Given the description of an element on the screen output the (x, y) to click on. 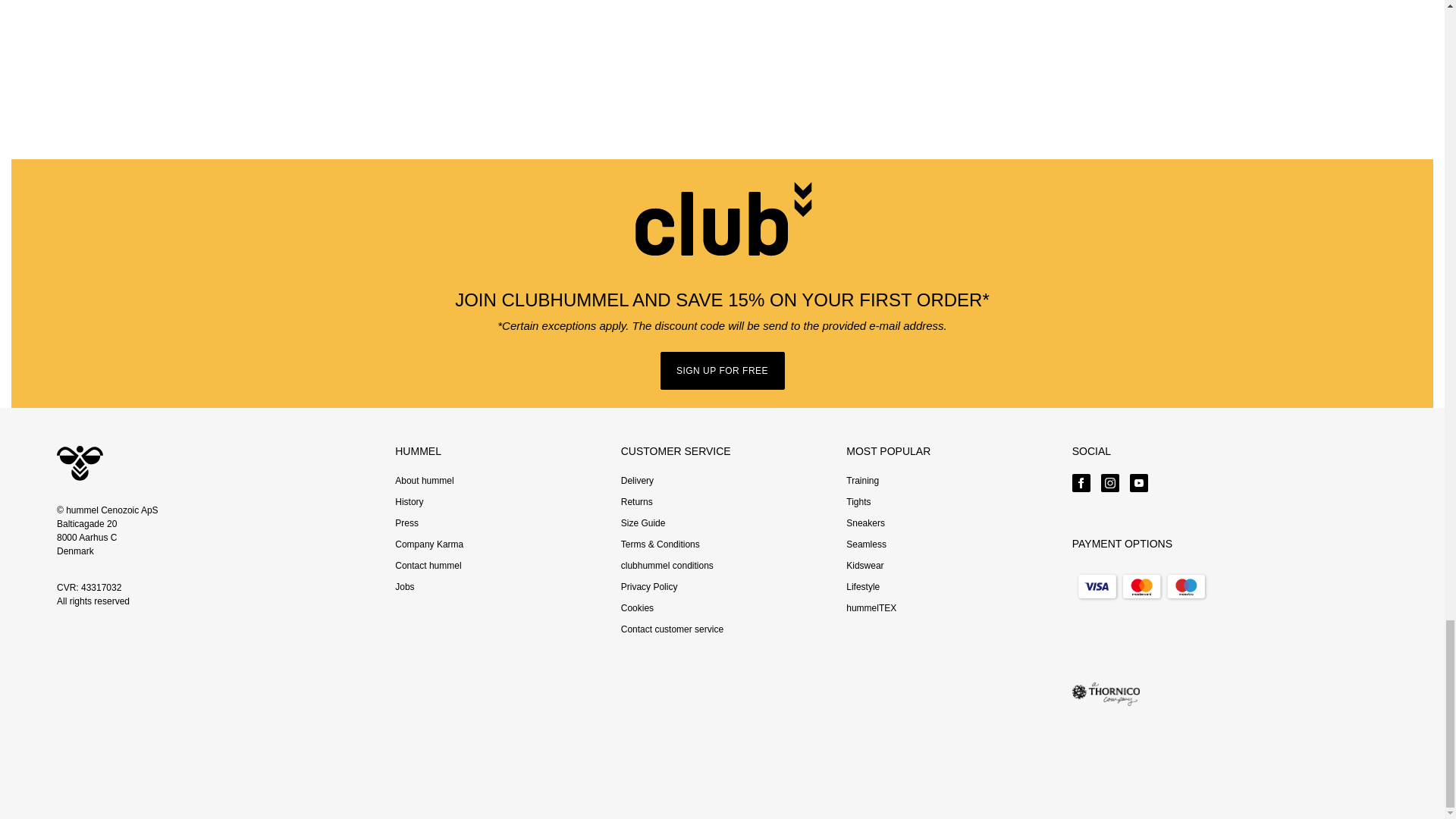
Go to Size Guide (643, 522)
Go to Company Karma (428, 543)
Go to Returns (636, 501)
Go to About Hummel (423, 480)
Go to Delivery (637, 480)
Go to Press (406, 522)
Go to Contact (427, 565)
Go to History (408, 501)
Go to Jobs (403, 586)
